Given the description of an element on the screen output the (x, y) to click on. 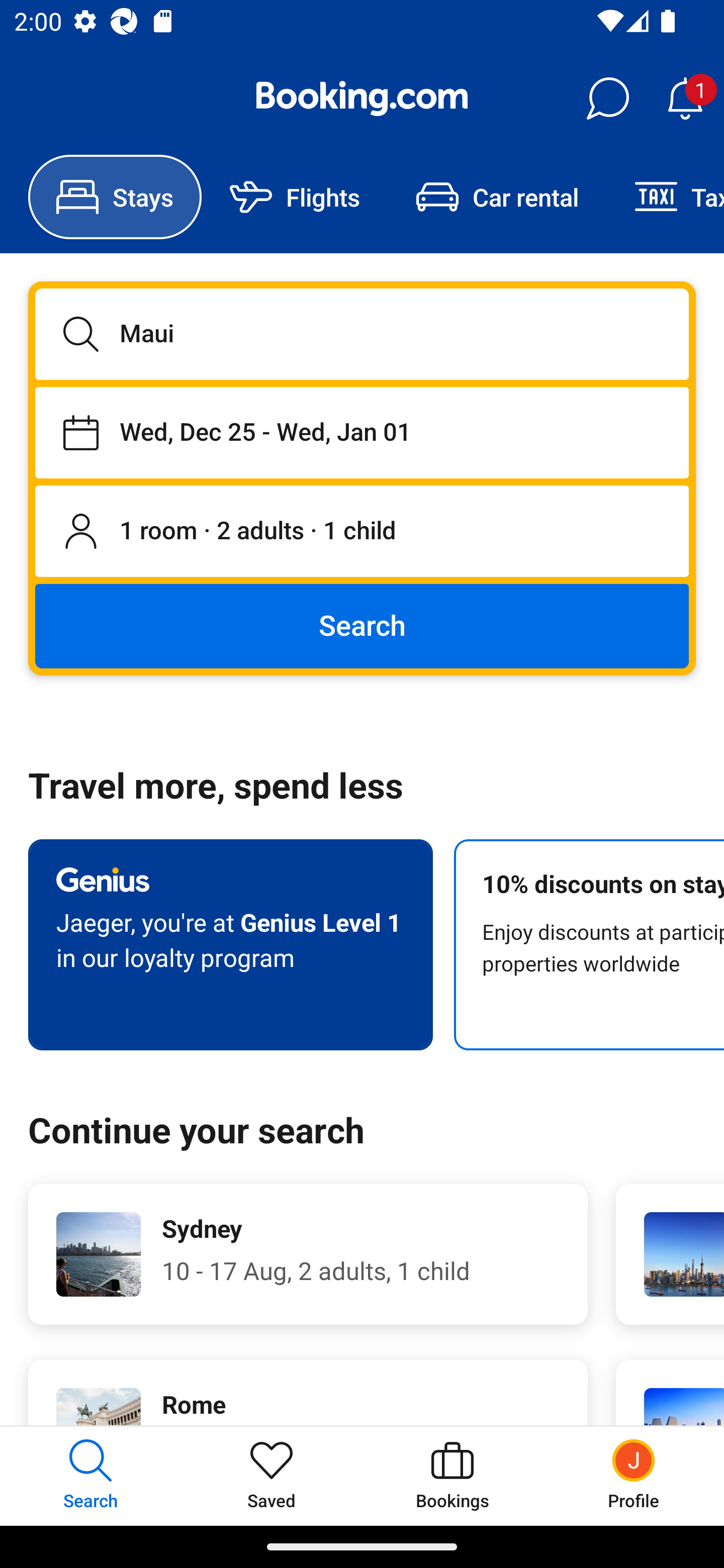
Messages (607, 98)
Notifications (685, 98)
Stays (114, 197)
Flights (294, 197)
Car rental (497, 197)
Taxi (665, 197)
Maui (361, 333)
Staying from Wed, Dec 25 until Wed, Jan 01 (361, 432)
1 room, 2 adults, 1 child (361, 531)
Search (361, 625)
Sydney 10 - 17 Aug, 2 adults, 1 child (307, 1253)
Saved (271, 1475)
Bookings (452, 1475)
Profile (633, 1475)
